Given the description of an element on the screen output the (x, y) to click on. 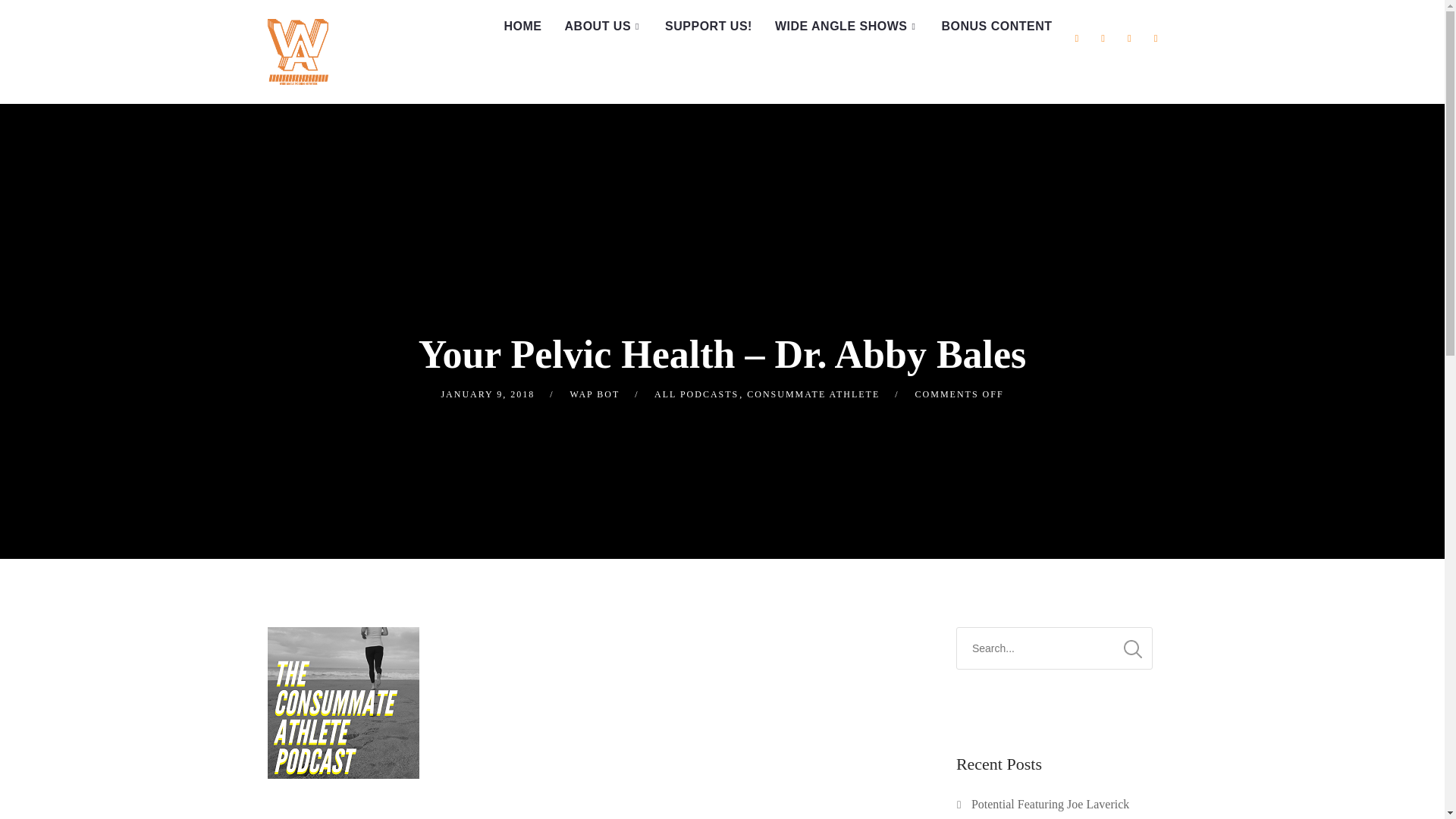
ABOUT US (603, 26)
HOME (523, 26)
SUPPORT US! (707, 26)
BONUS CONTENT (996, 26)
WIDE ANGLE SHOWS (846, 26)
